Given the description of an element on the screen output the (x, y) to click on. 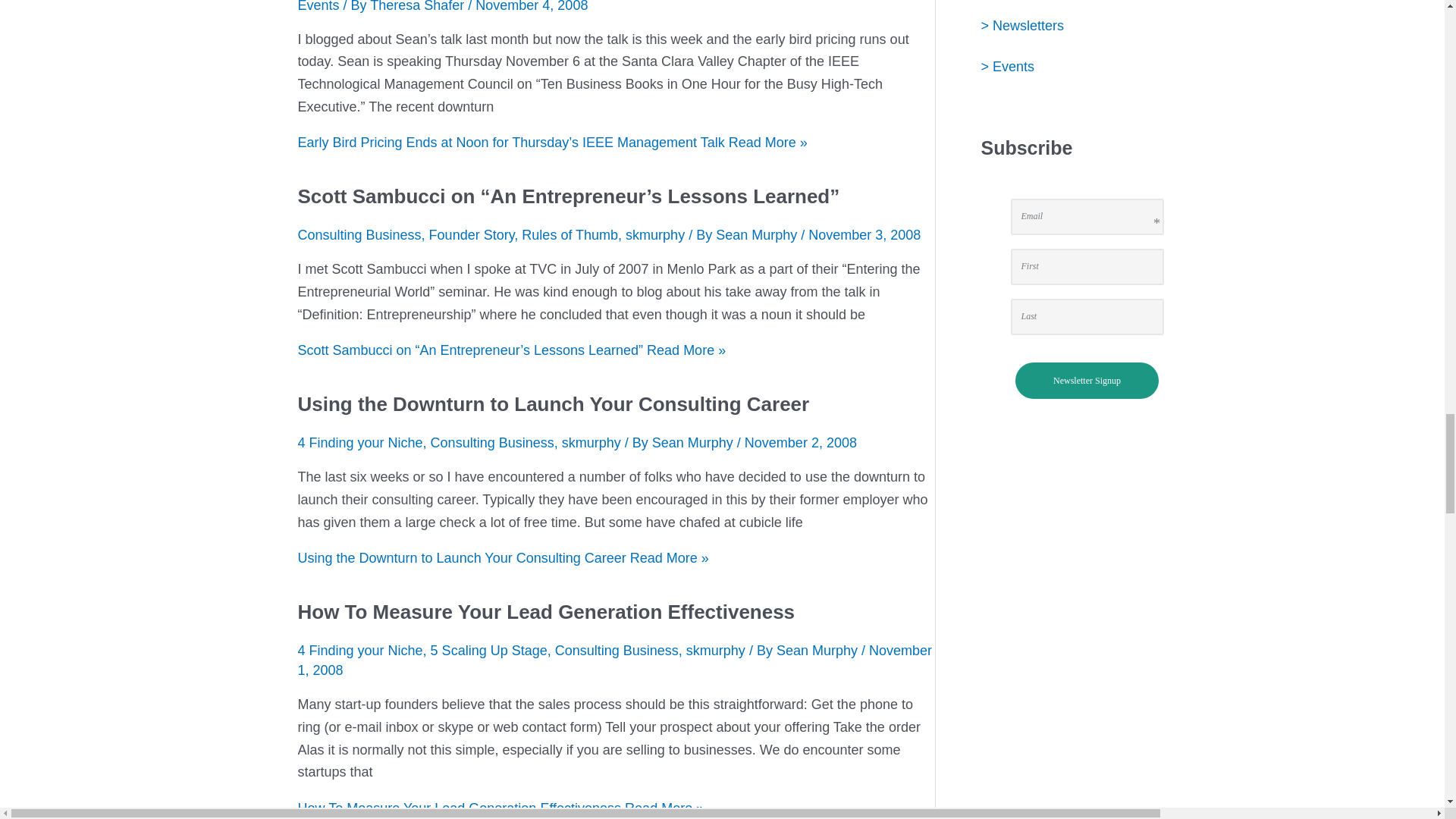
View all posts by Sean Murphy (694, 442)
View all posts by Sean Murphy (758, 234)
View all posts by Theresa Shafer (418, 6)
Newsletter Signup (1086, 380)
View all posts by Sean Murphy (818, 650)
